Given the description of an element on the screen output the (x, y) to click on. 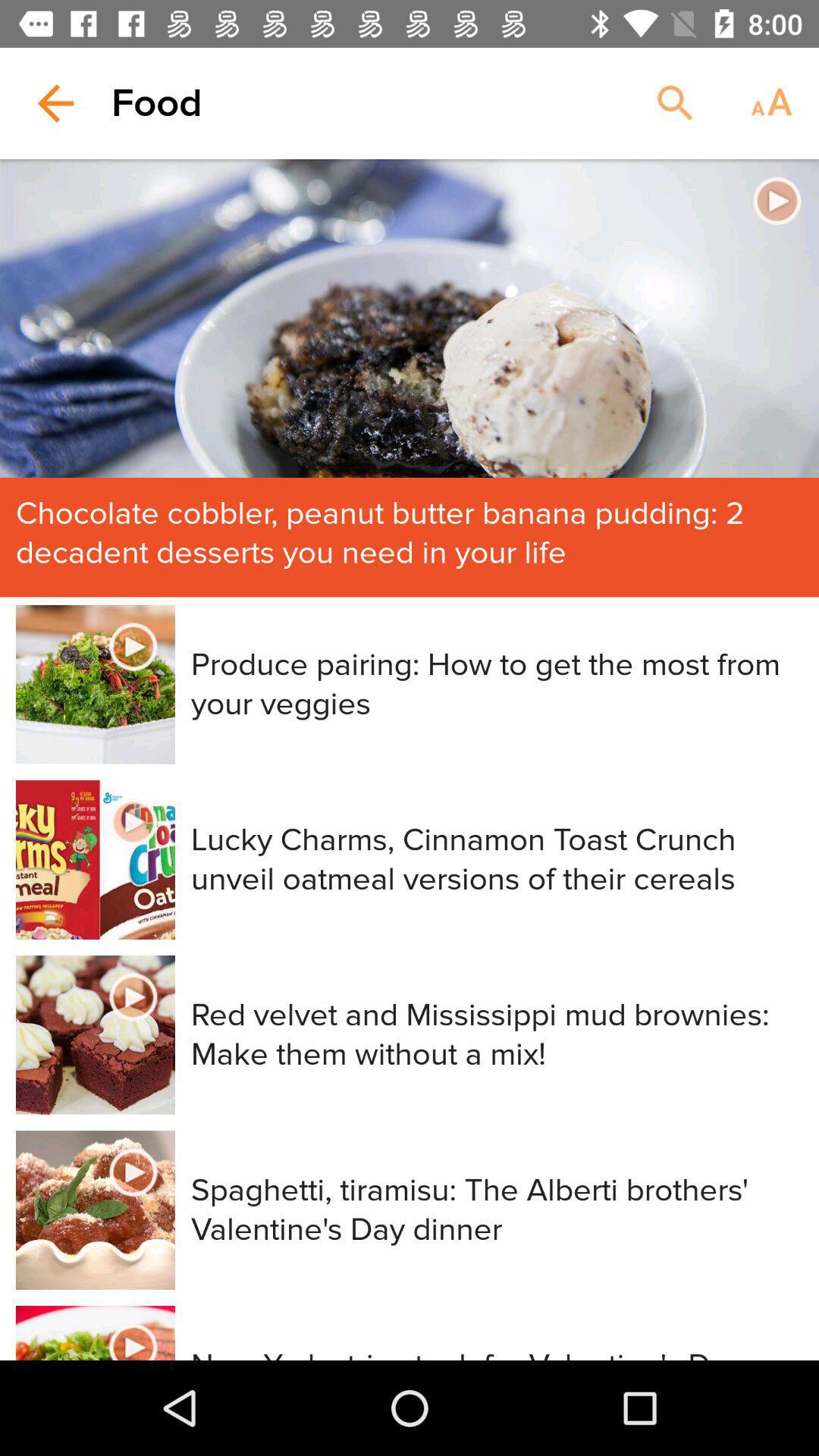
turn on food icon (156, 103)
